Given the description of an element on the screen output the (x, y) to click on. 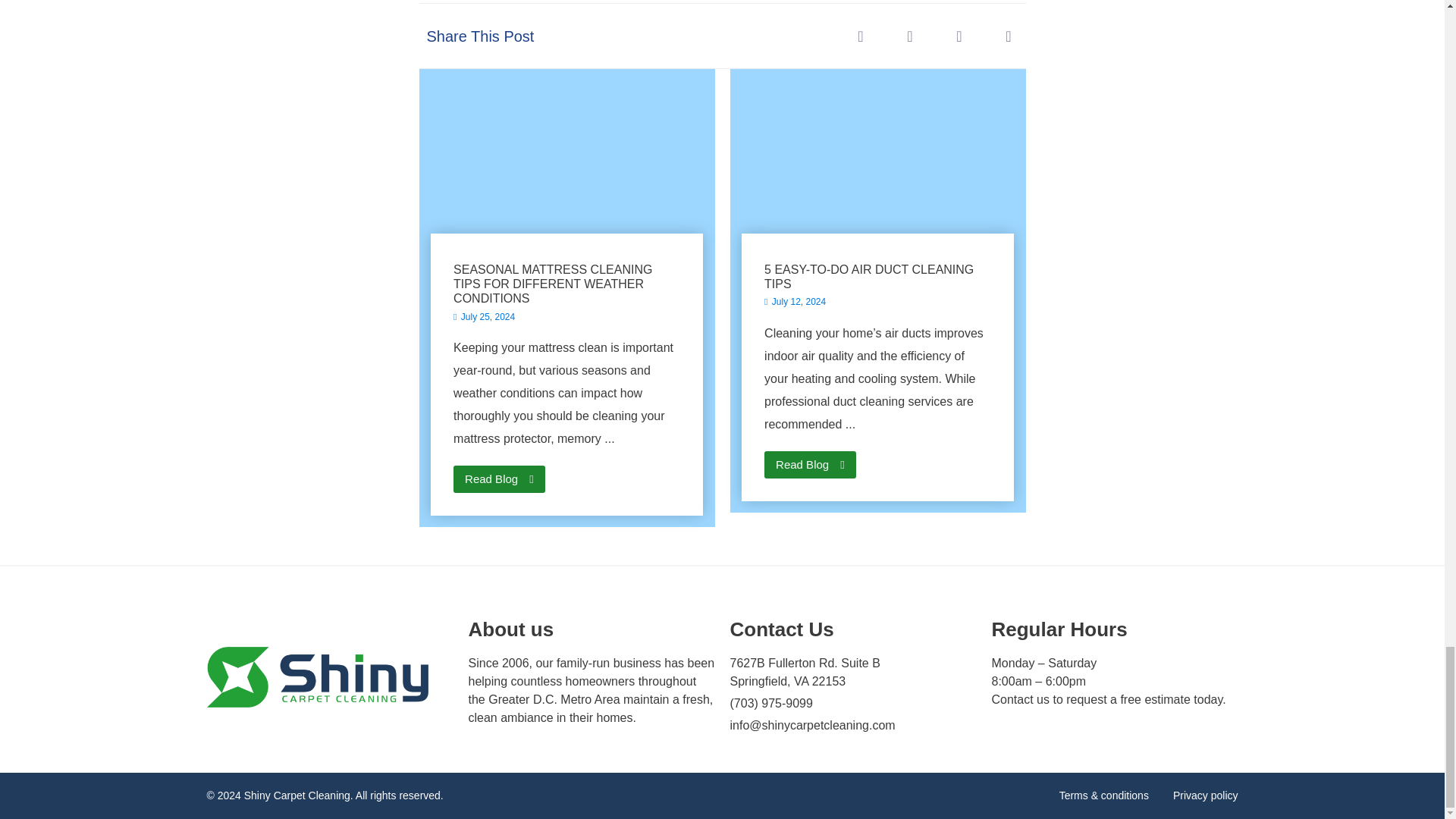
5 Easy-To-Do Air Duct Cleaning Tips (877, 261)
5 Easy-To-Do Air Duct Cleaning Tips (877, 167)
